Given the description of an element on the screen output the (x, y) to click on. 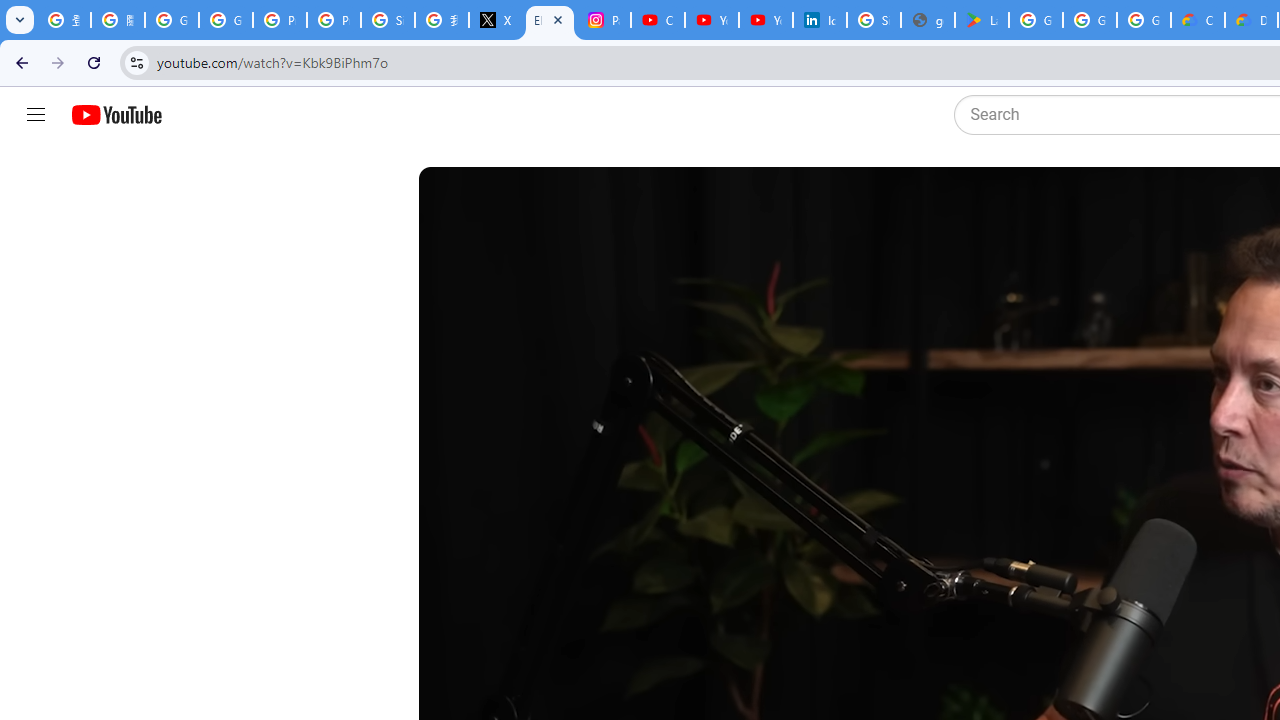
Google Workspace - Specific Terms (1144, 20)
